Given the description of an element on the screen output the (x, y) to click on. 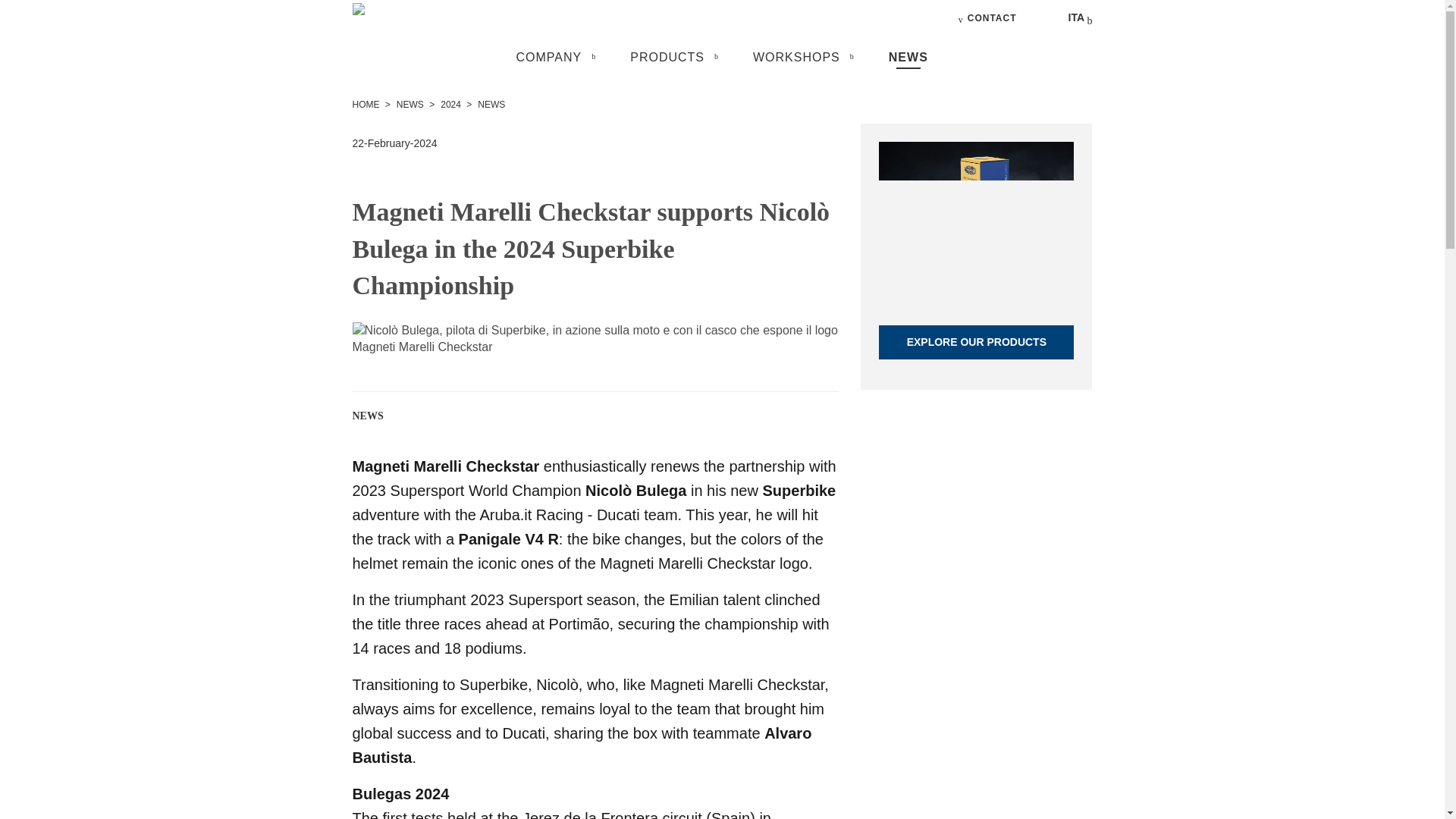
News (908, 56)
news (491, 104)
NEWS (908, 56)
COMPANY (547, 56)
WORKSHOPS (796, 56)
2024 (452, 104)
2024 (451, 104)
Workshops (796, 56)
NEWS (411, 104)
Company (547, 56)
